Given the description of an element on the screen output the (x, y) to click on. 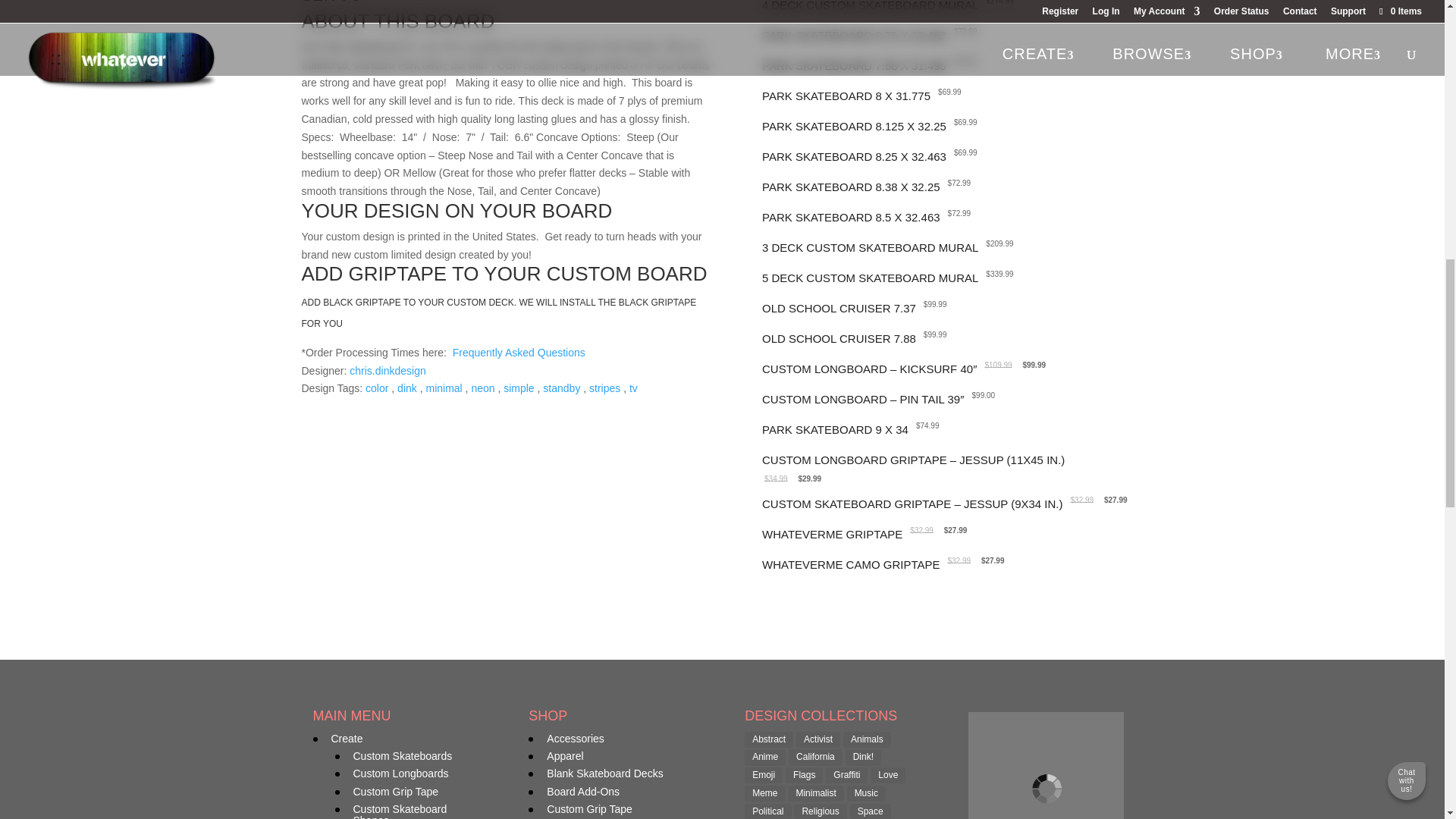
chris.dinkdesign Designs (387, 370)
